Given the description of an element on the screen output the (x, y) to click on. 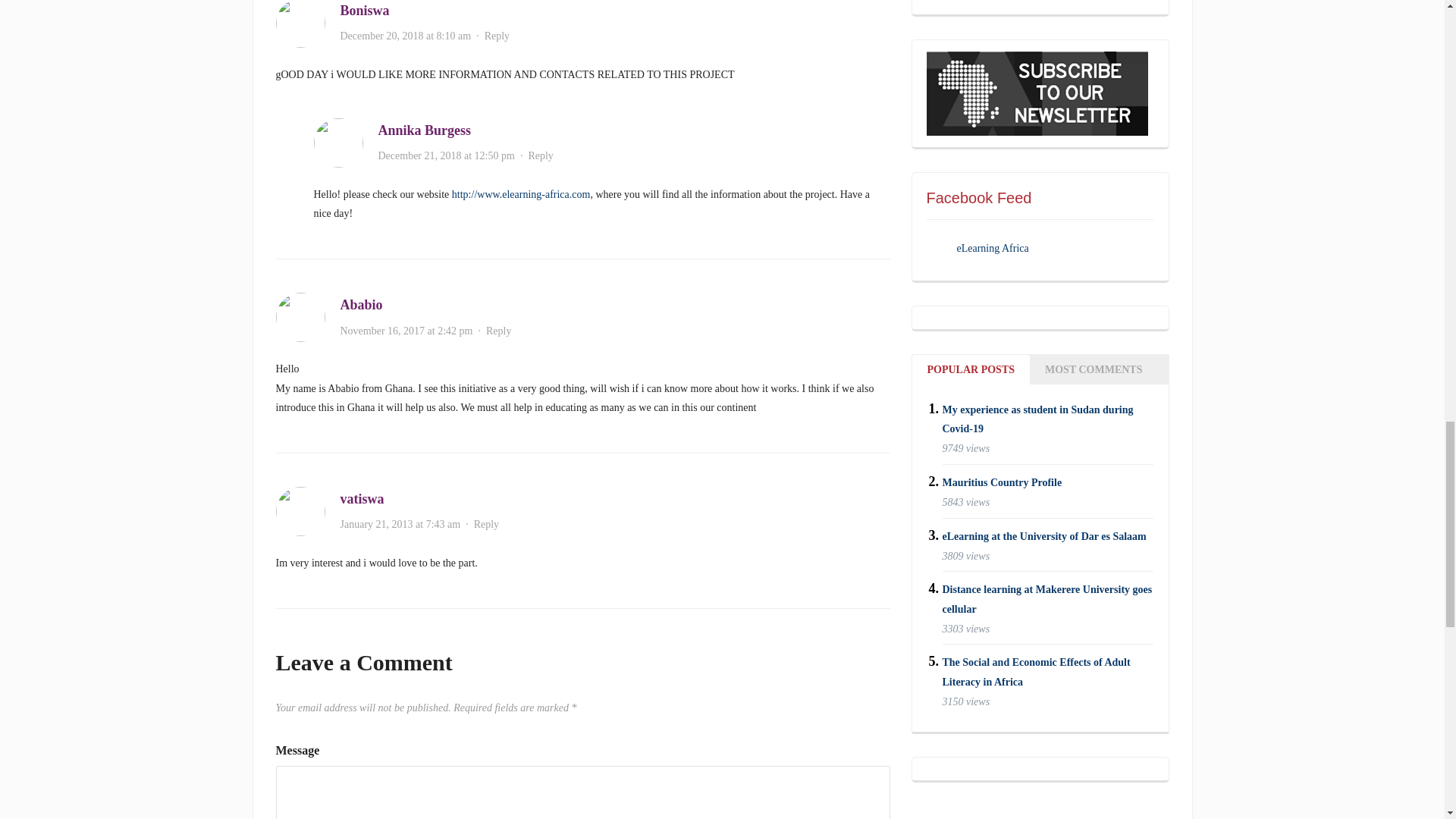
November 16, 2017 at 2:42 pm (405, 330)
Reply (486, 523)
Reply (540, 155)
Reply (498, 330)
December 21, 2018 at 12:50 pm (445, 155)
Popular Posts (970, 369)
December 20, 2018 at 8:10 am (404, 35)
Most Comments (1093, 369)
January 21, 2013 at 7:43 am (399, 523)
